Given the description of an element on the screen output the (x, y) to click on. 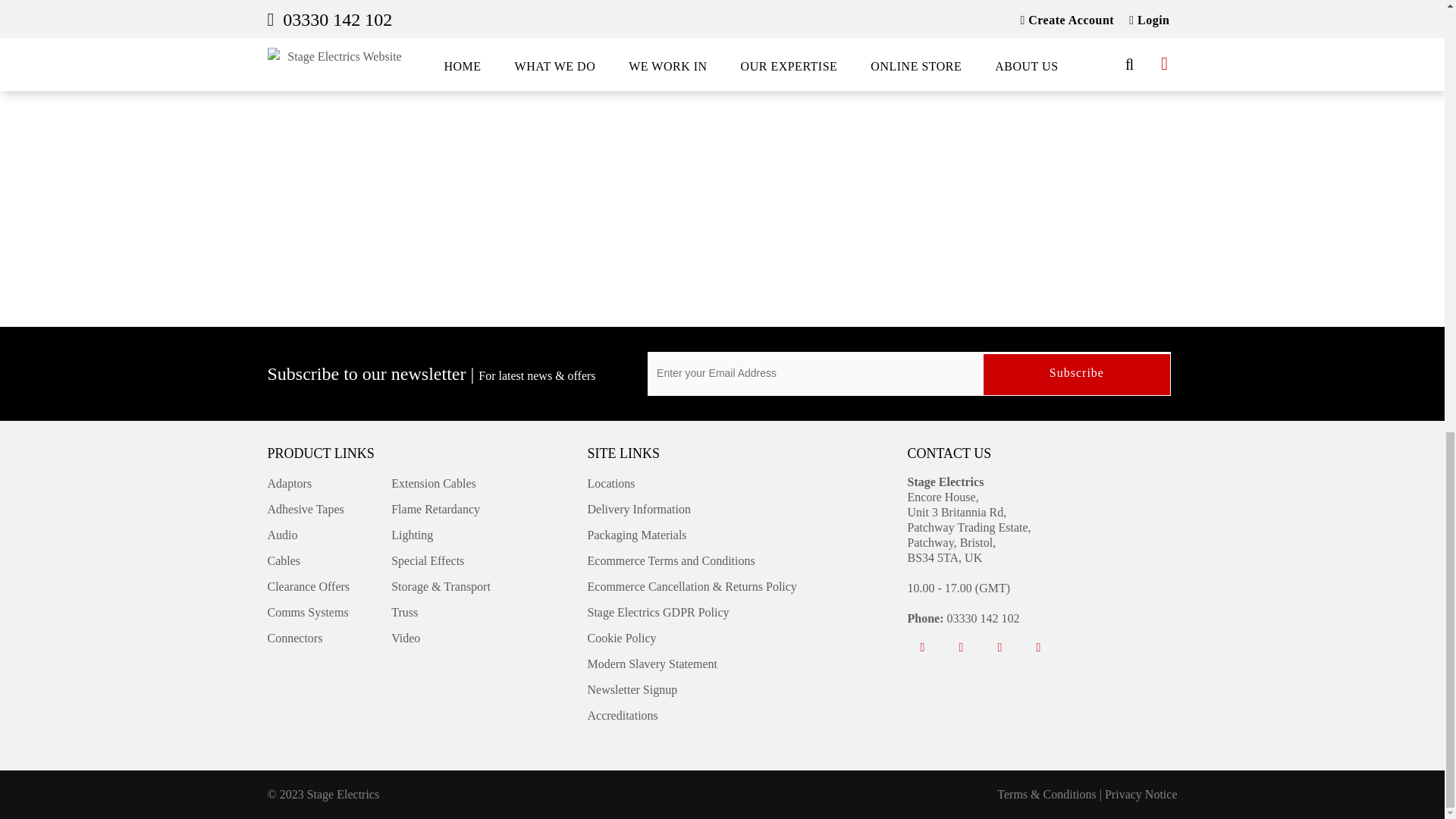
1 (799, 1)
Subscribe (1076, 373)
